Given the description of an element on the screen output the (x, y) to click on. 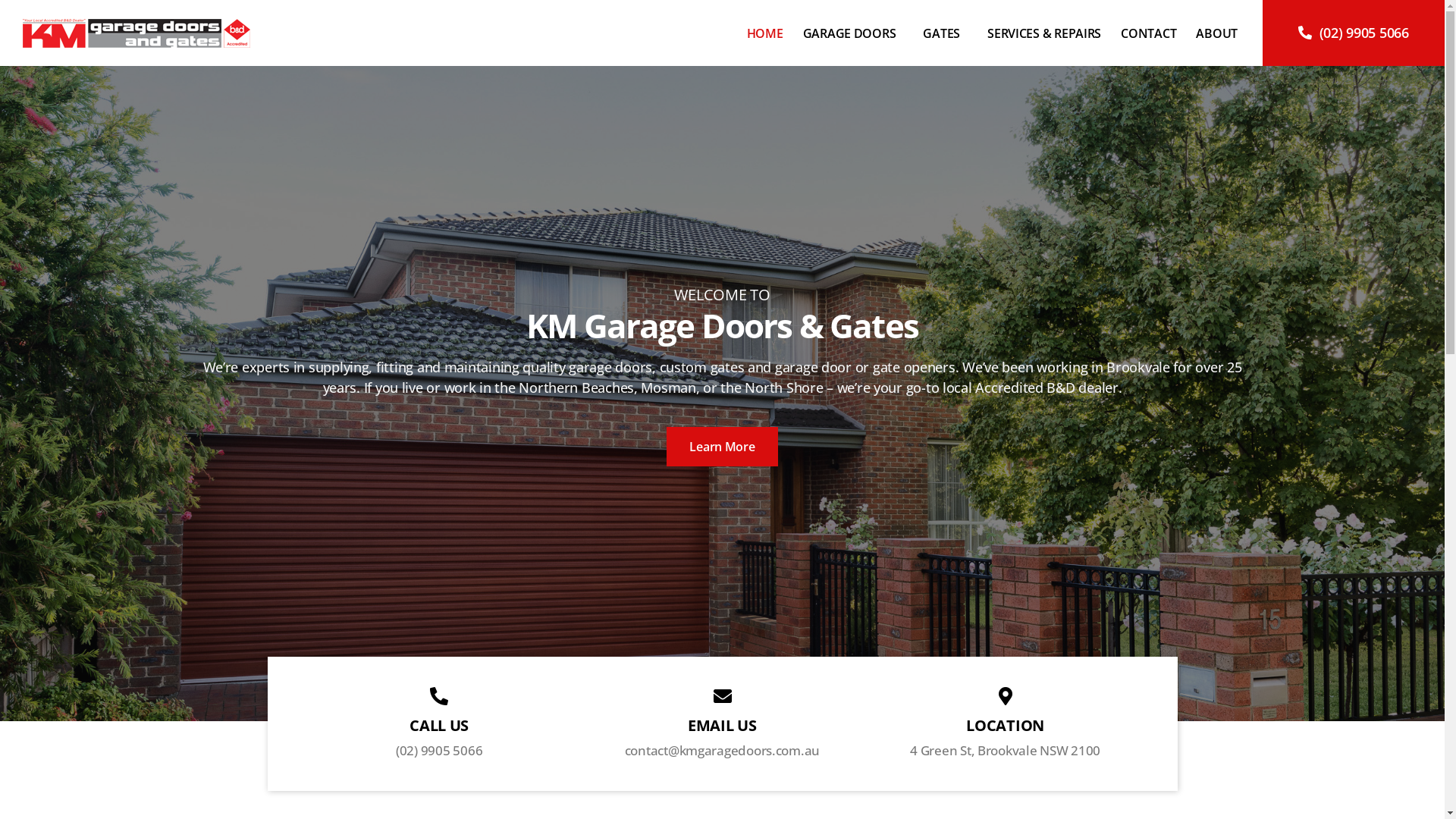
GATES Element type: text (945, 32)
(02) 9905 5066 Element type: text (1353, 32)
GARAGE DOORS Element type: text (853, 32)
CALL US Element type: text (438, 725)
EMAIL US Element type: text (721, 725)
CONTACT Element type: text (1148, 32)
HOME Element type: text (765, 32)
SERVICES & REPAIRS Element type: text (1043, 32)
Learn More Element type: text (721, 445)
LOCATION Element type: text (1005, 725)
ABOUT Element type: text (1216, 32)
